Given the description of an element on the screen output the (x, y) to click on. 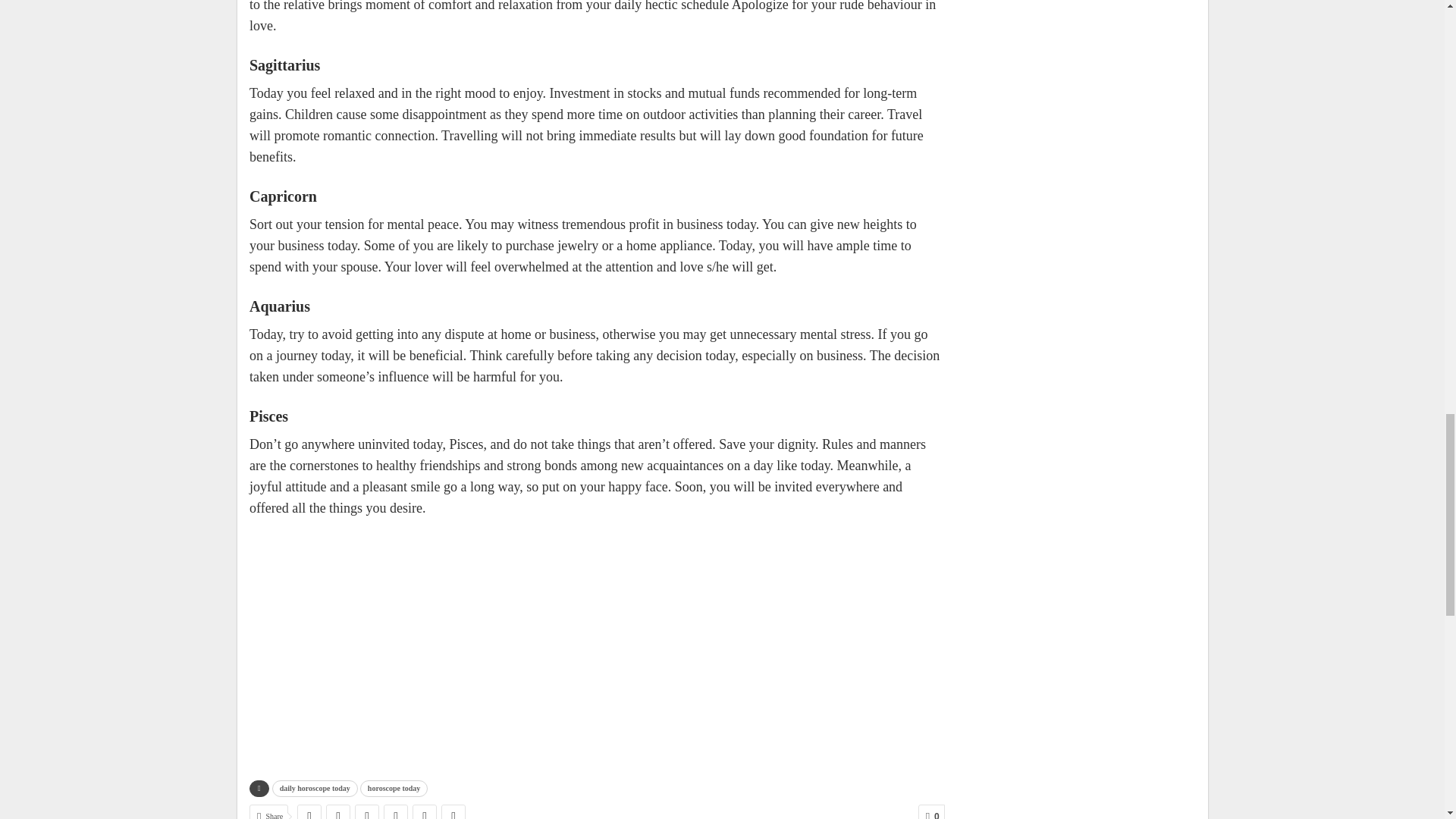
daily horoscope today (315, 788)
horoscope today (393, 788)
0 (931, 811)
